Given the description of an element on the screen output the (x, y) to click on. 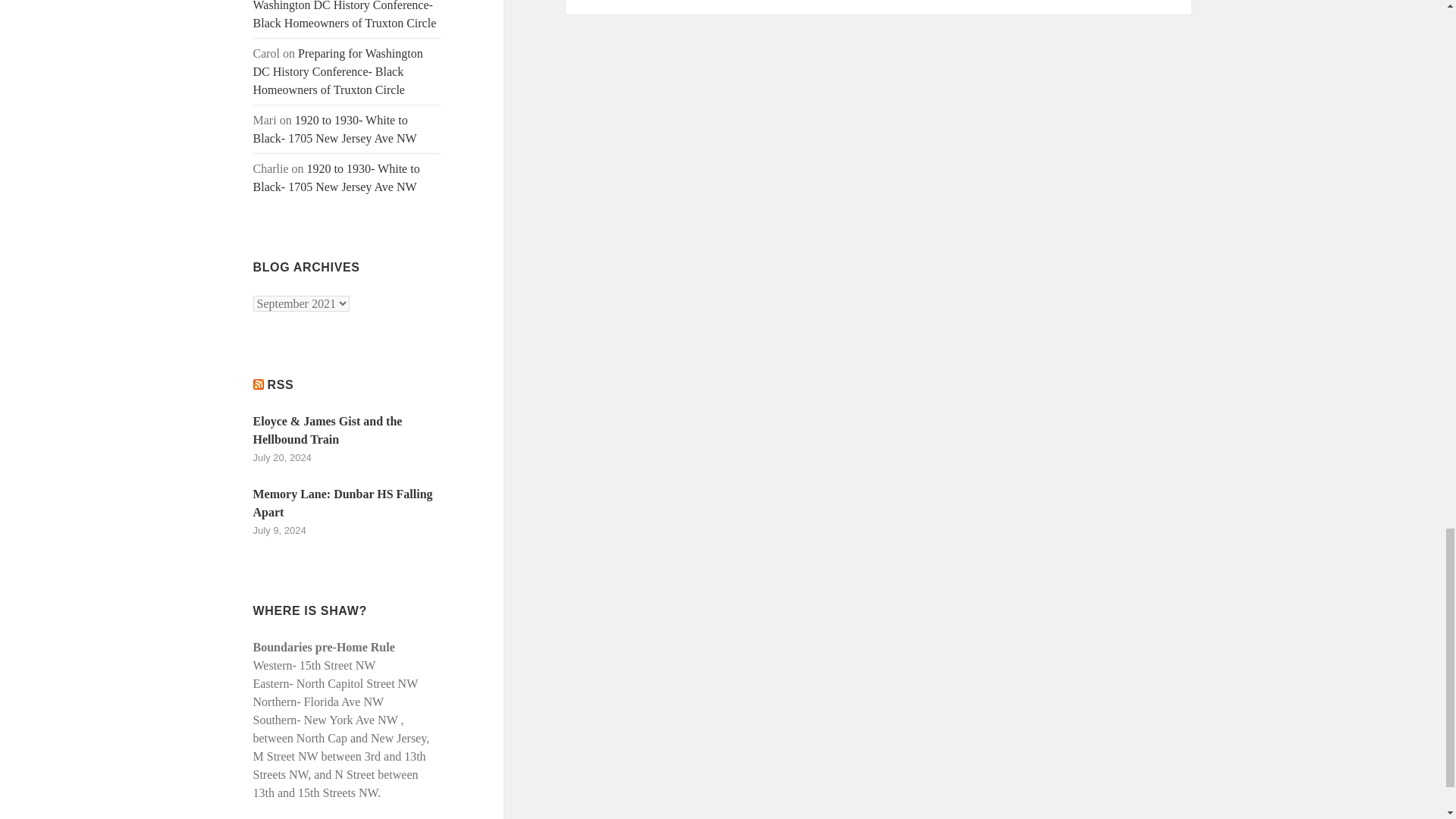
1920 to 1930- White to Black- 1705 New Jersey Ave NW (334, 128)
